Given the description of an element on the screen output the (x, y) to click on. 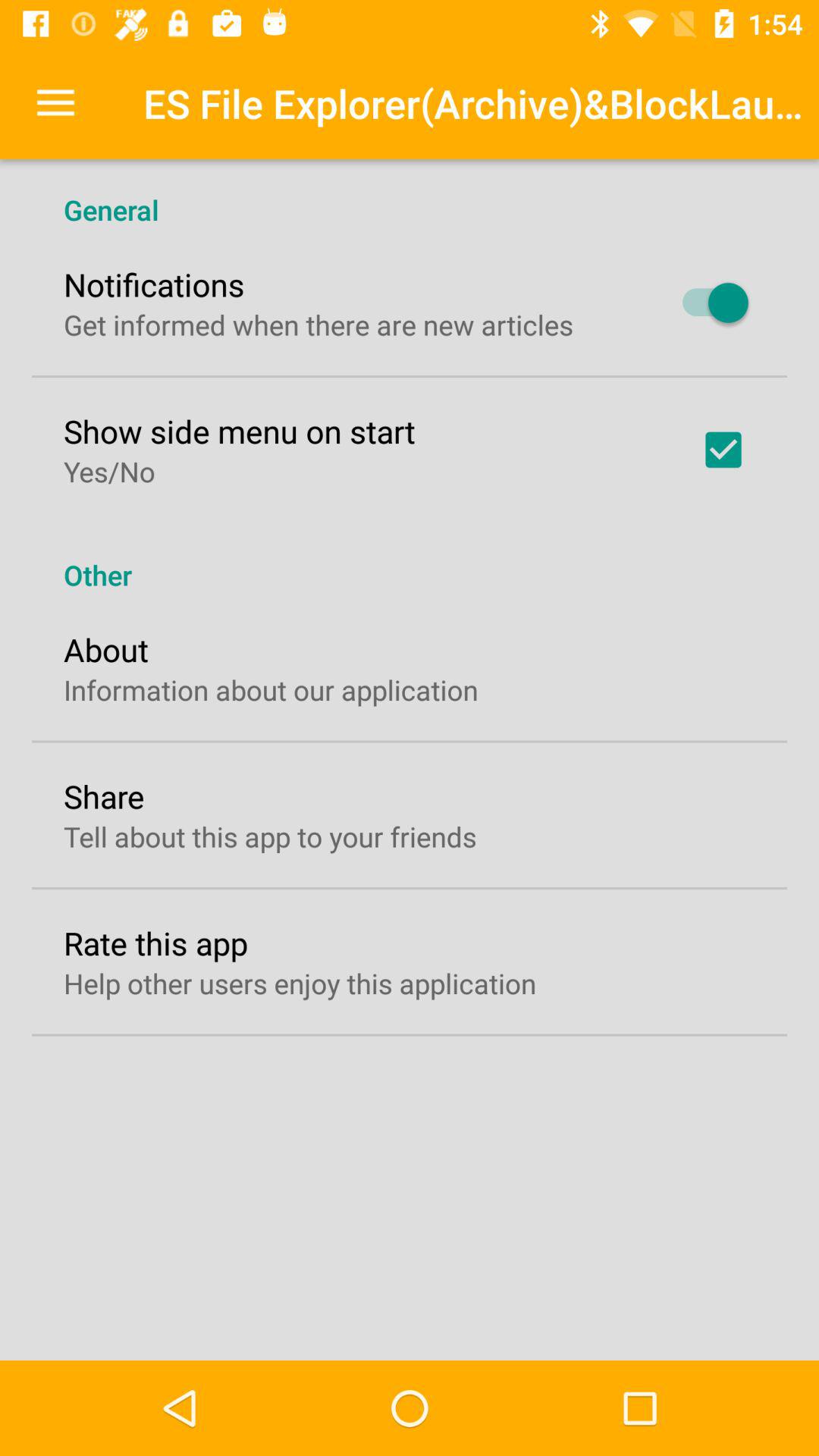
turn off icon to the right of get informed when (707, 302)
